Given the description of an element on the screen output the (x, y) to click on. 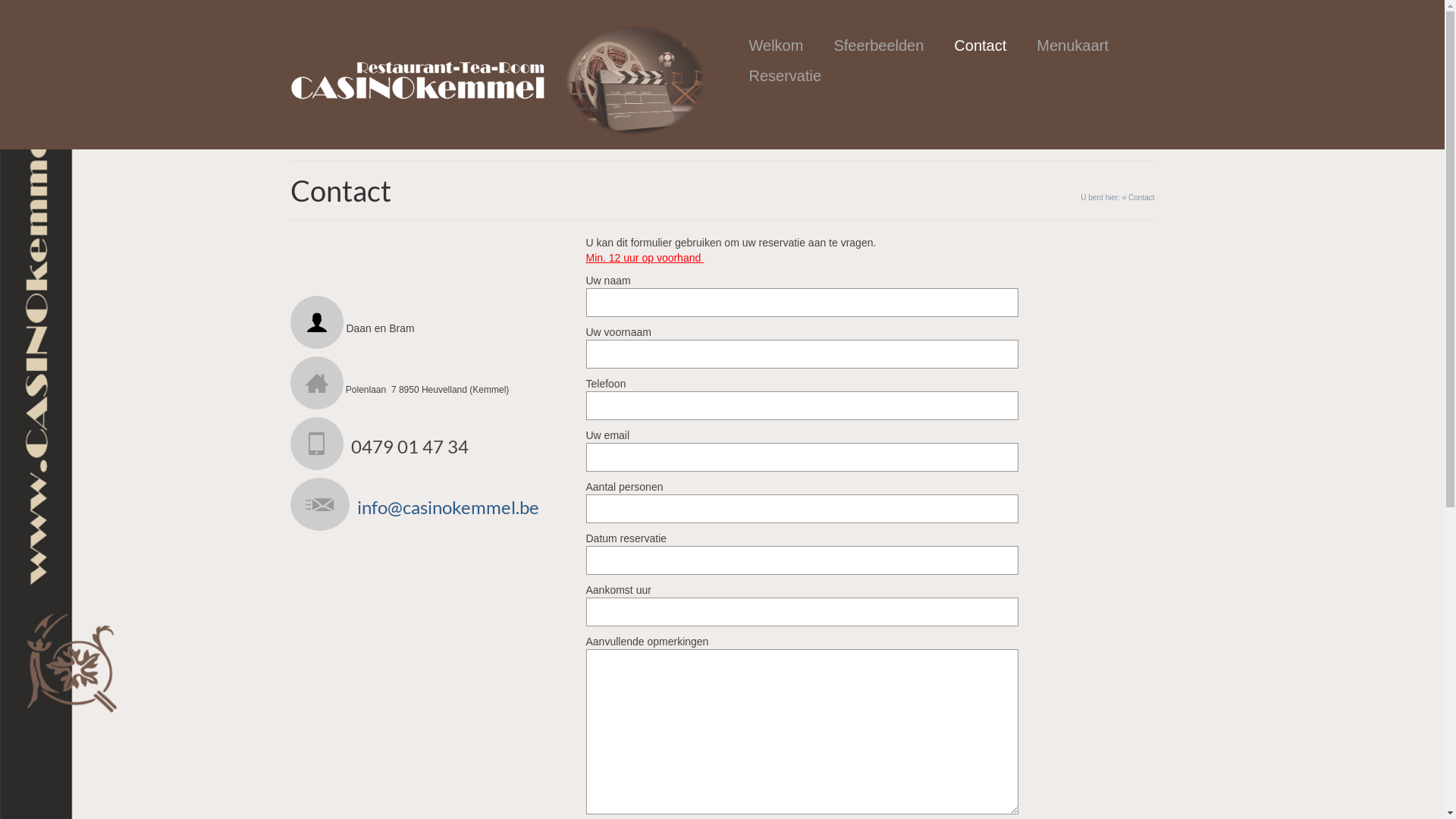
info@casinokemmel.be Element type: text (447, 506)
Contact Element type: text (979, 45)
U bent hier: Element type: text (1100, 197)
Welkom Element type: text (776, 45)
Sfeerbeelden Element type: text (878, 45)
Reservatie Element type: text (785, 75)
Menukaart Element type: text (1072, 45)
